Given the description of an element on the screen output the (x, y) to click on. 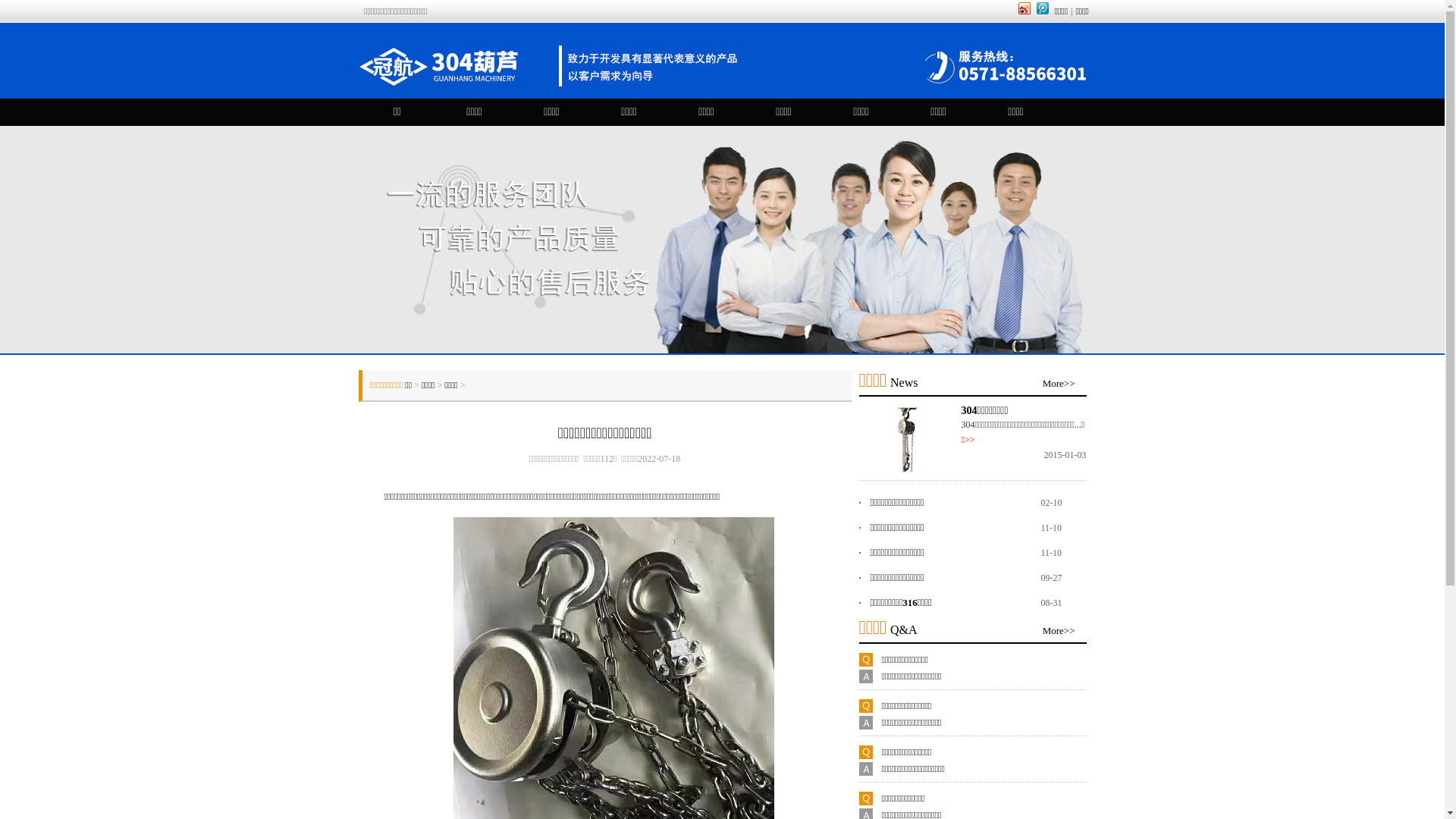
More>> Element type: text (1058, 383)
More>> Element type: text (1058, 630)
